Given the description of an element on the screen output the (x, y) to click on. 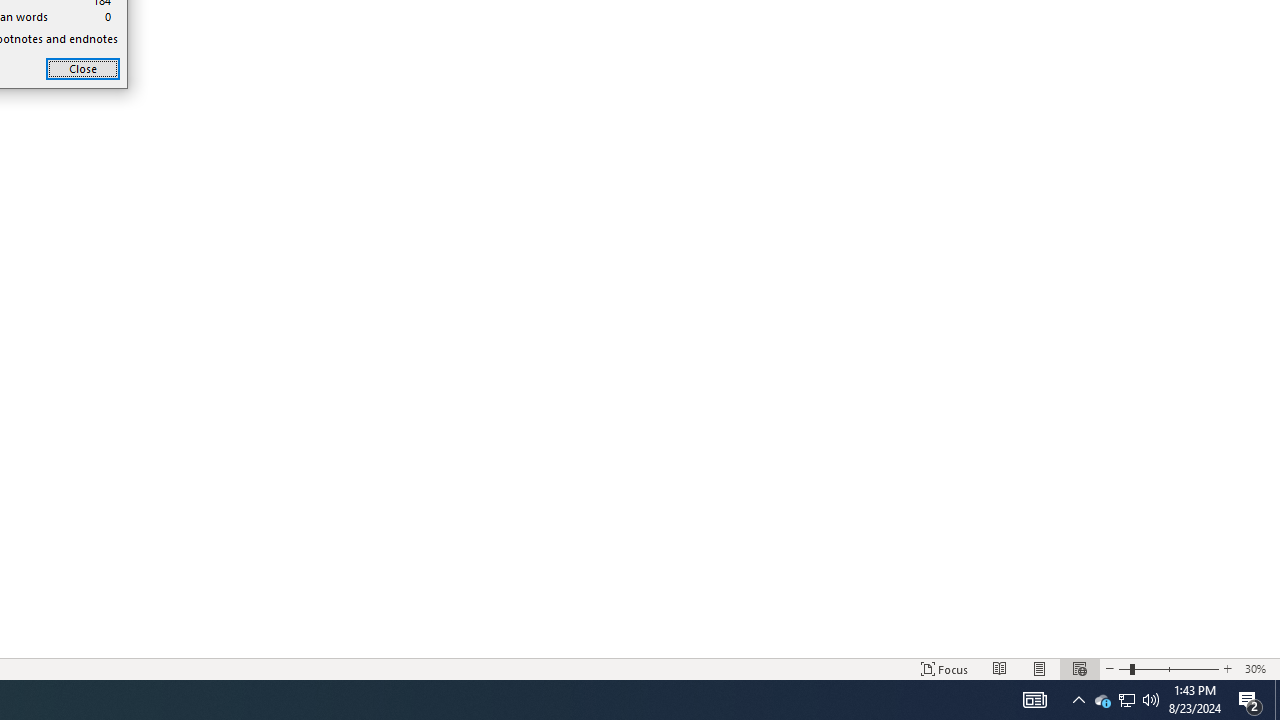
Zoom 30% (1258, 668)
